Given the description of an element on the screen output the (x, y) to click on. 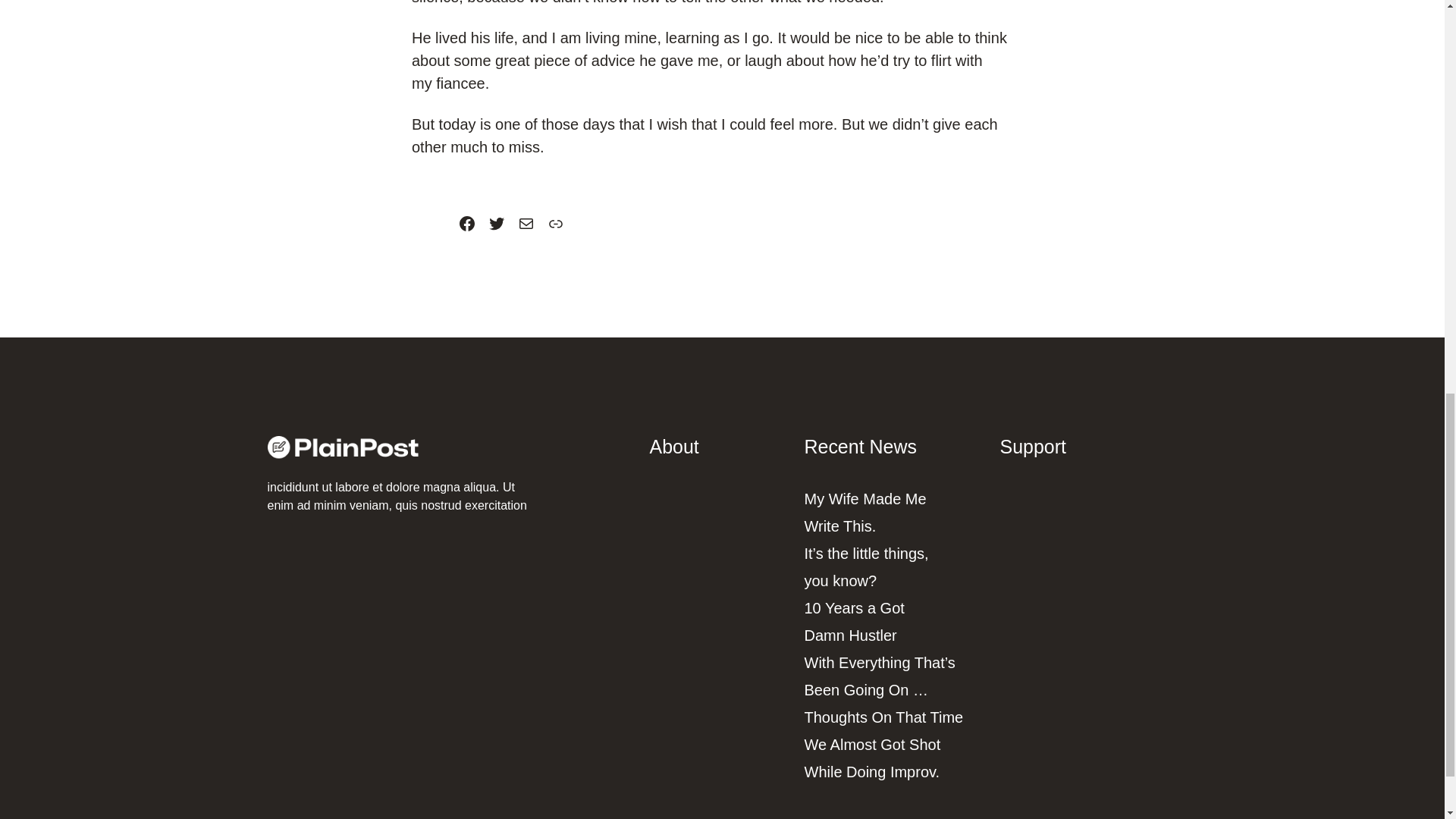
Thoughts On That Time We Almost Got Shot While Doing Improv. (882, 744)
10 Years a Got Damn Hustler (853, 621)
Link (555, 223)
Facebook (467, 223)
Mail (525, 223)
Twitter (496, 223)
My Wife Made Me Write This.  (864, 512)
